Given the description of an element on the screen output the (x, y) to click on. 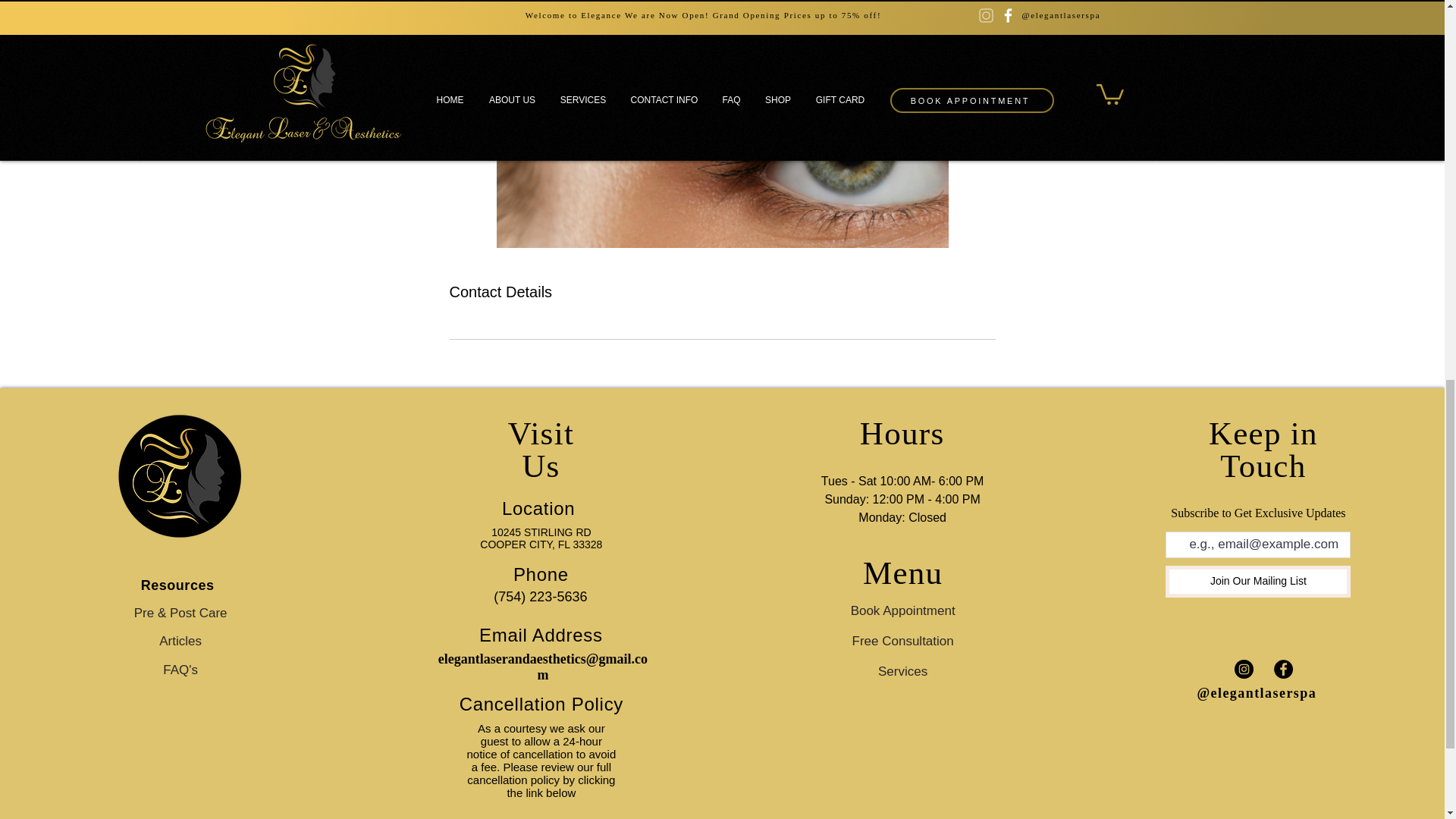
FAQ's (180, 670)
Articles (180, 641)
Services (902, 671)
Free Consultation (902, 641)
Book Appointment (902, 611)
Join Our Mailing List (1258, 581)
